Given the description of an element on the screen output the (x, y) to click on. 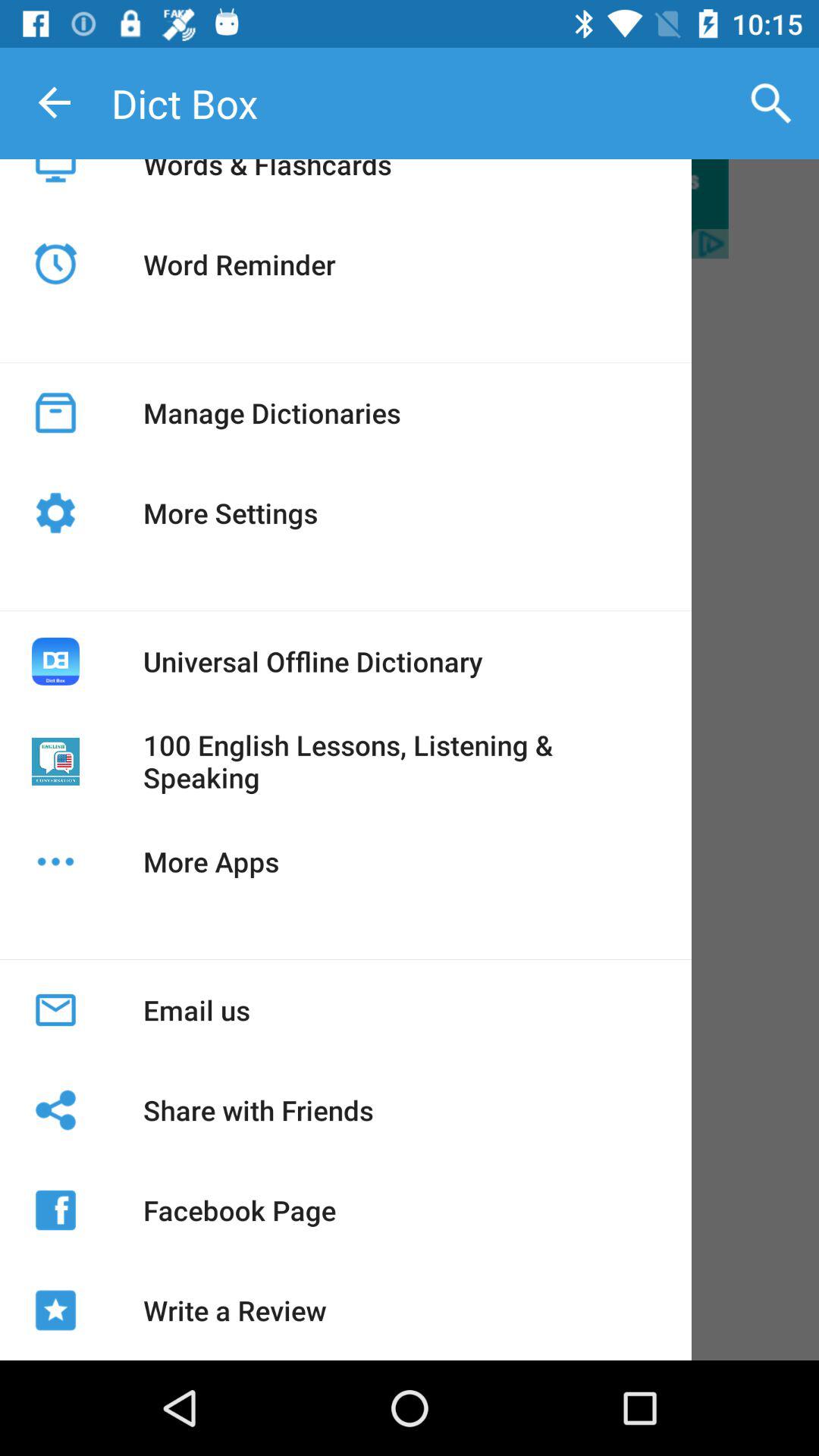
swipe until the share with friends (258, 1110)
